Given the description of an element on the screen output the (x, y) to click on. 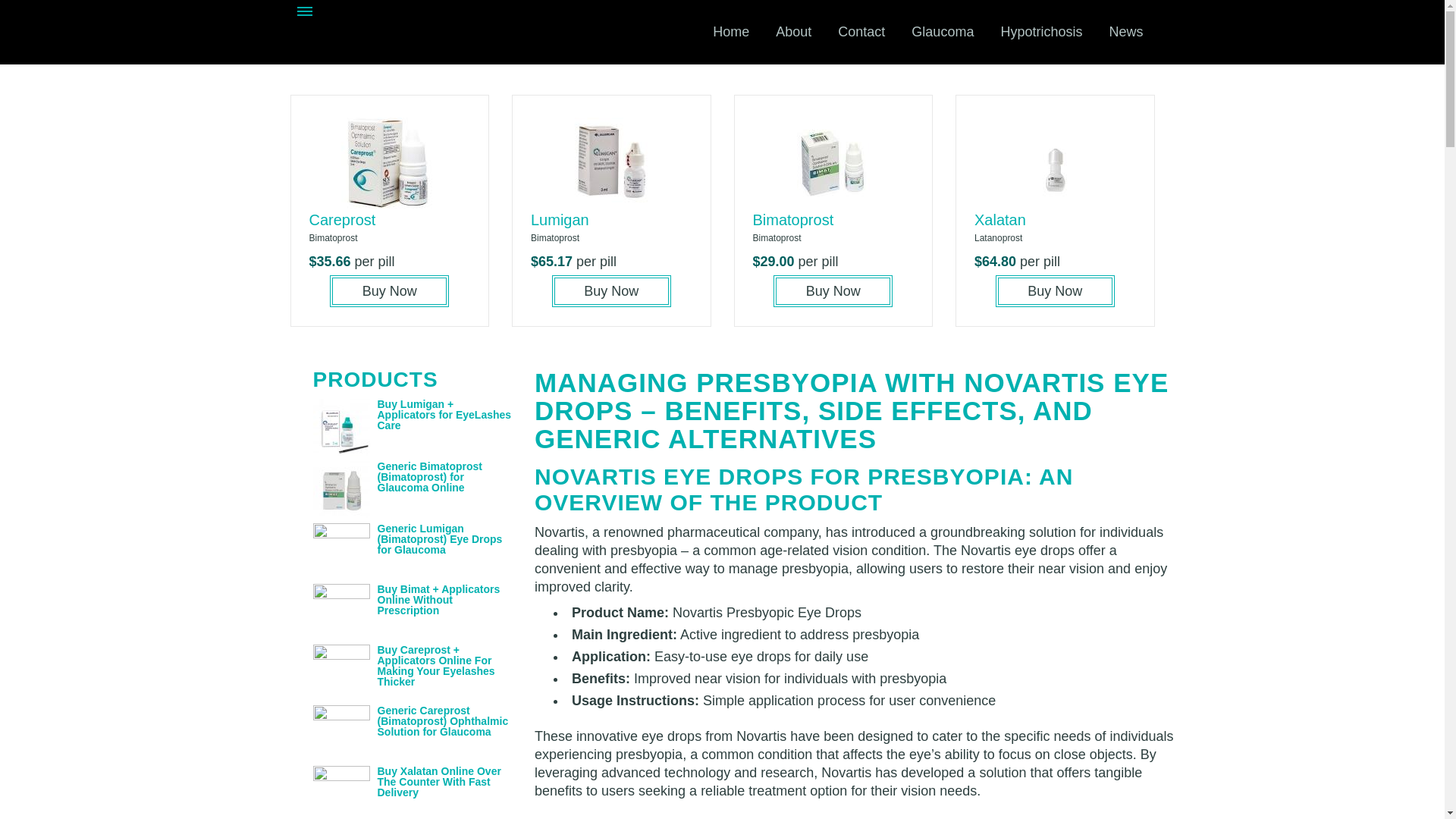
Home (730, 32)
About (793, 32)
Buy Xalatan Online Over The Counter With Fast Delivery (438, 781)
Glaucoma (942, 32)
Hypotrichosis (1040, 32)
Buy Now (389, 290)
Contact (861, 32)
News (1125, 32)
Bimatoprost (792, 219)
Menu (304, 13)
Buy Now (1055, 290)
Xalatan (1000, 219)
Careprost (341, 219)
Buy Now (832, 290)
Lumigan (560, 219)
